Given the description of an element on the screen output the (x, y) to click on. 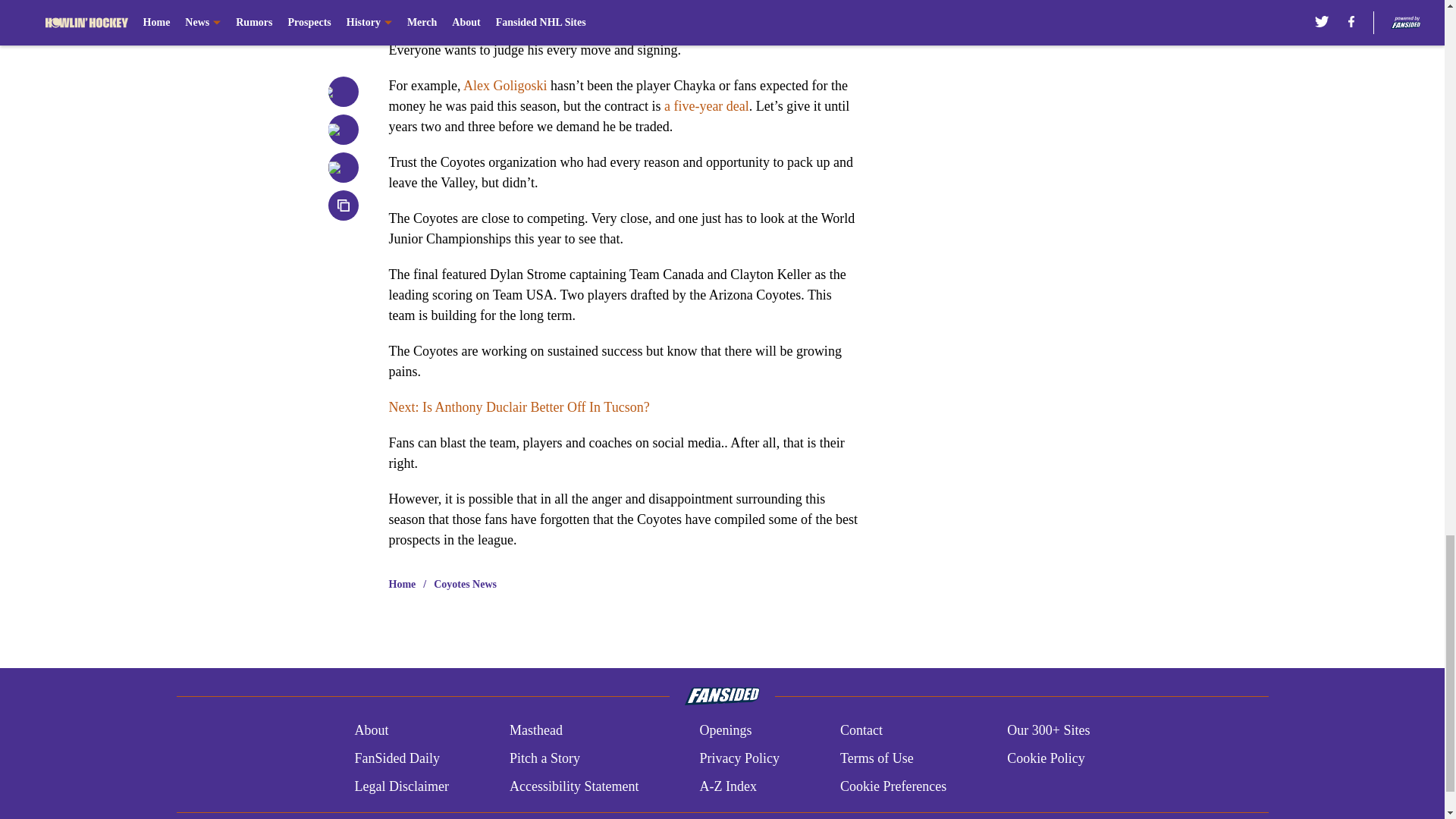
Home (401, 584)
Accessibility Statement (574, 786)
Cookie Policy (1045, 758)
Pitch a Story (544, 758)
Masthead (535, 730)
Next: Is Anthony Duclair Better Off In Tucson? (518, 406)
A-Z Index (726, 786)
Terms of Use (877, 758)
Openings (724, 730)
a five-year deal (706, 105)
About (370, 730)
Contact (861, 730)
Alex Goligoski (505, 85)
FanSided Daily (396, 758)
Legal Disclaimer (400, 786)
